Given the description of an element on the screen output the (x, y) to click on. 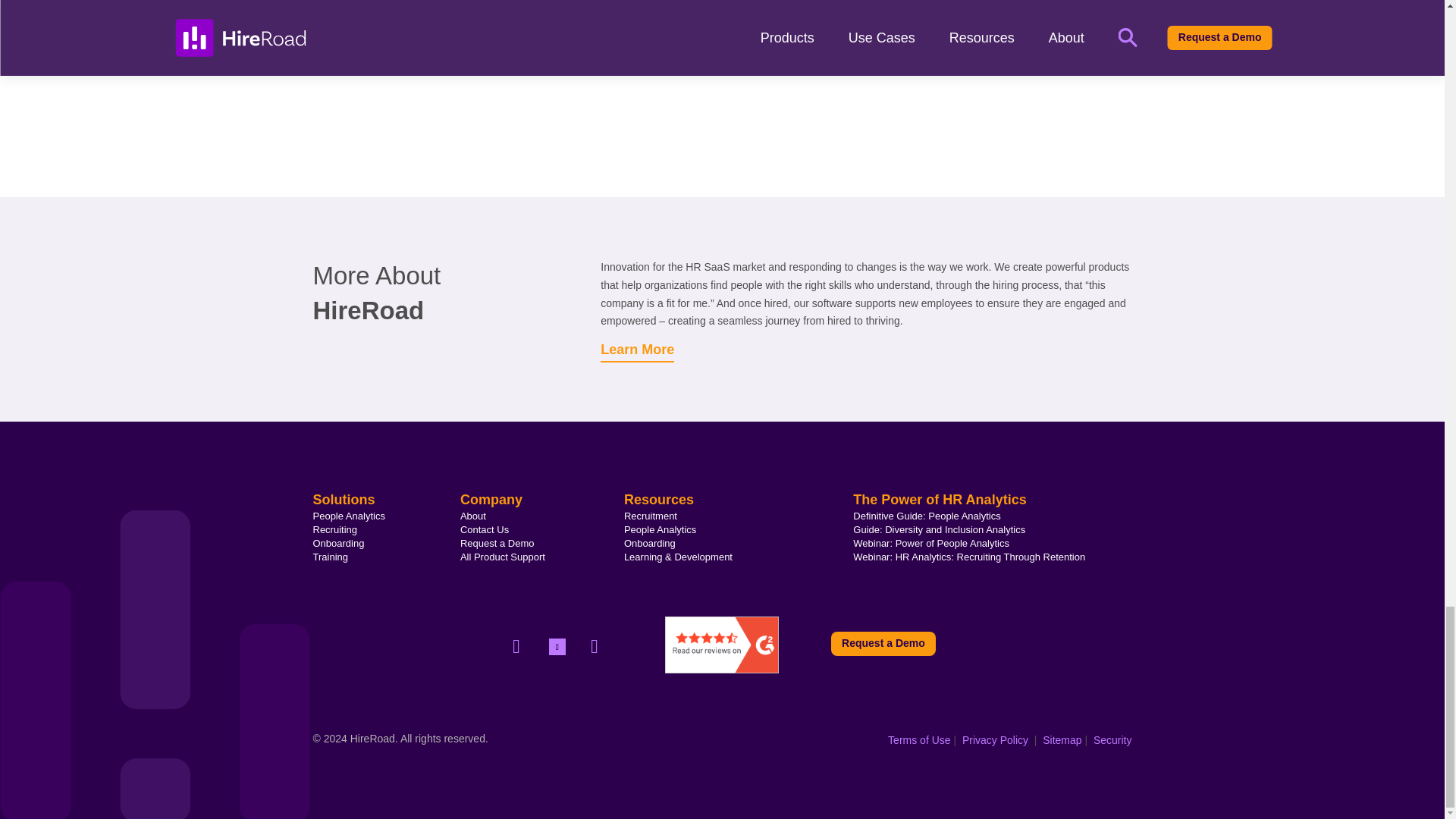
Form 0 (721, 67)
Onboarding (338, 542)
People Analytics (348, 515)
 Terms of Use (919, 739)
 Security (1110, 739)
Learn More (636, 352)
Follow on LinkedIn (557, 646)
 Privacy Policy (993, 739)
Recruiting (334, 529)
Read reviews of PeopleInsight on G2 (721, 669)
